Given the description of an element on the screen output the (x, y) to click on. 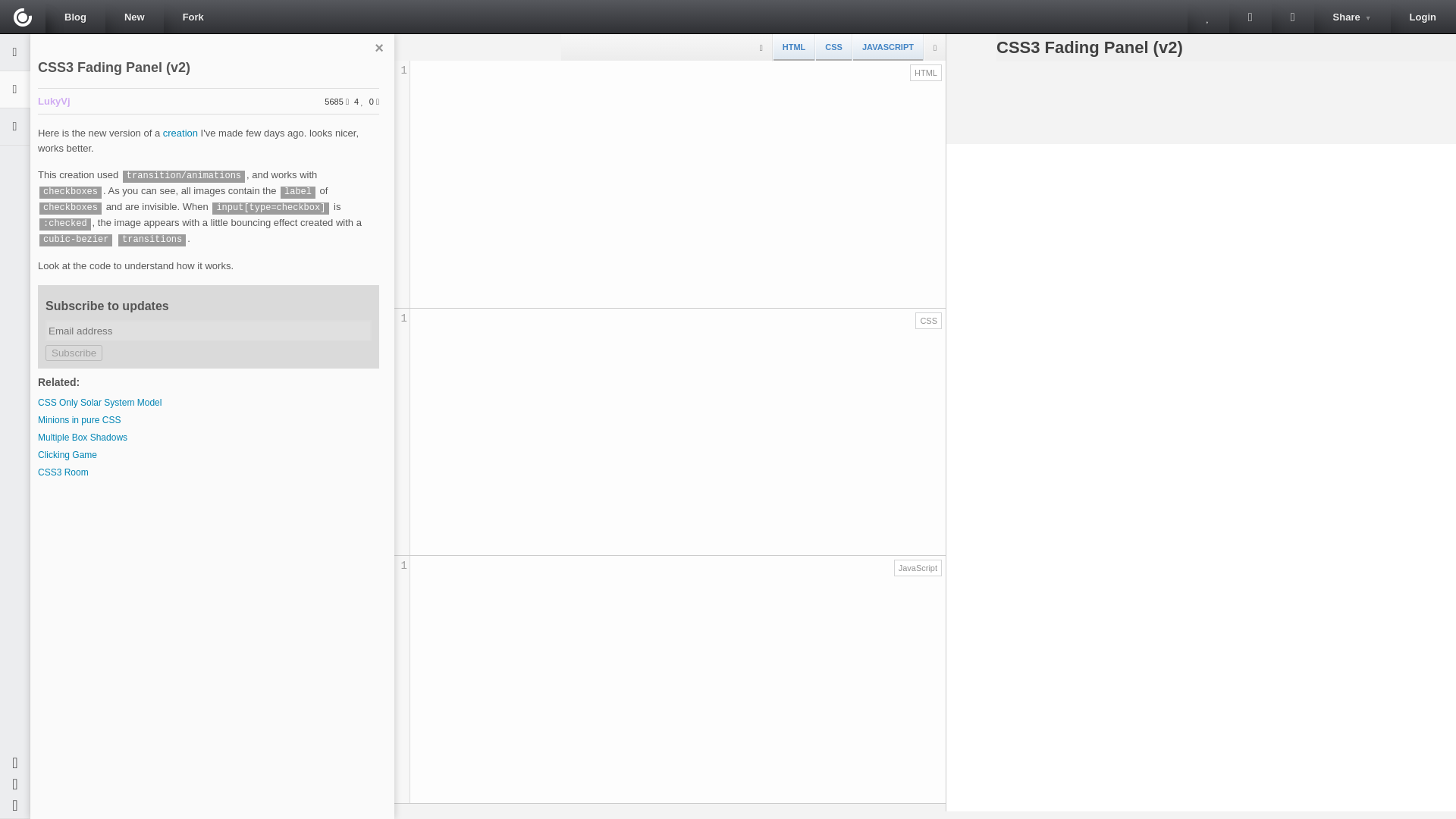
Login (1422, 17)
Blog (74, 17)
Share (1352, 17)
Next Item (1249, 17)
Clicking Game (67, 454)
Subscribe (73, 352)
Like this Creation (1292, 17)
Fork (1208, 17)
